Given the description of an element on the screen output the (x, y) to click on. 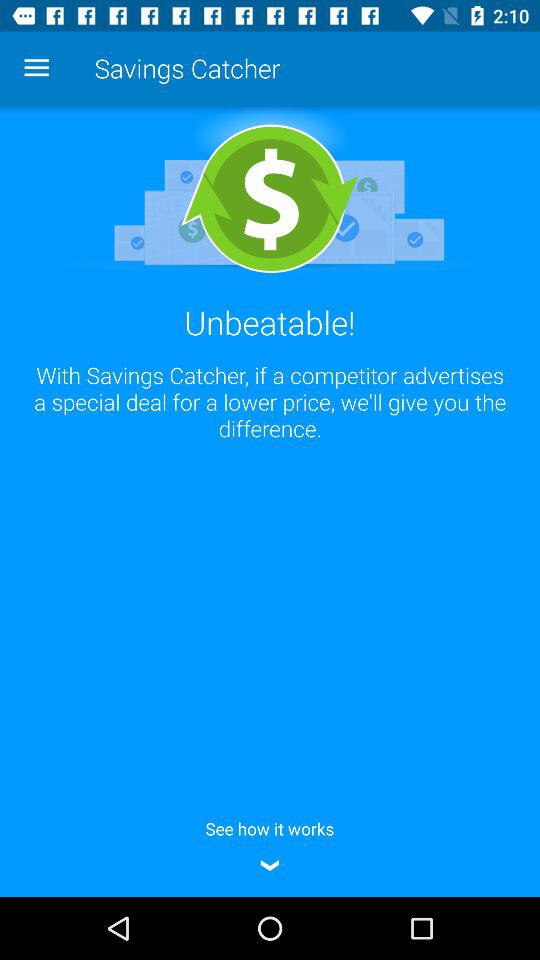
press the see how it item (269, 843)
